Given the description of an element on the screen output the (x, y) to click on. 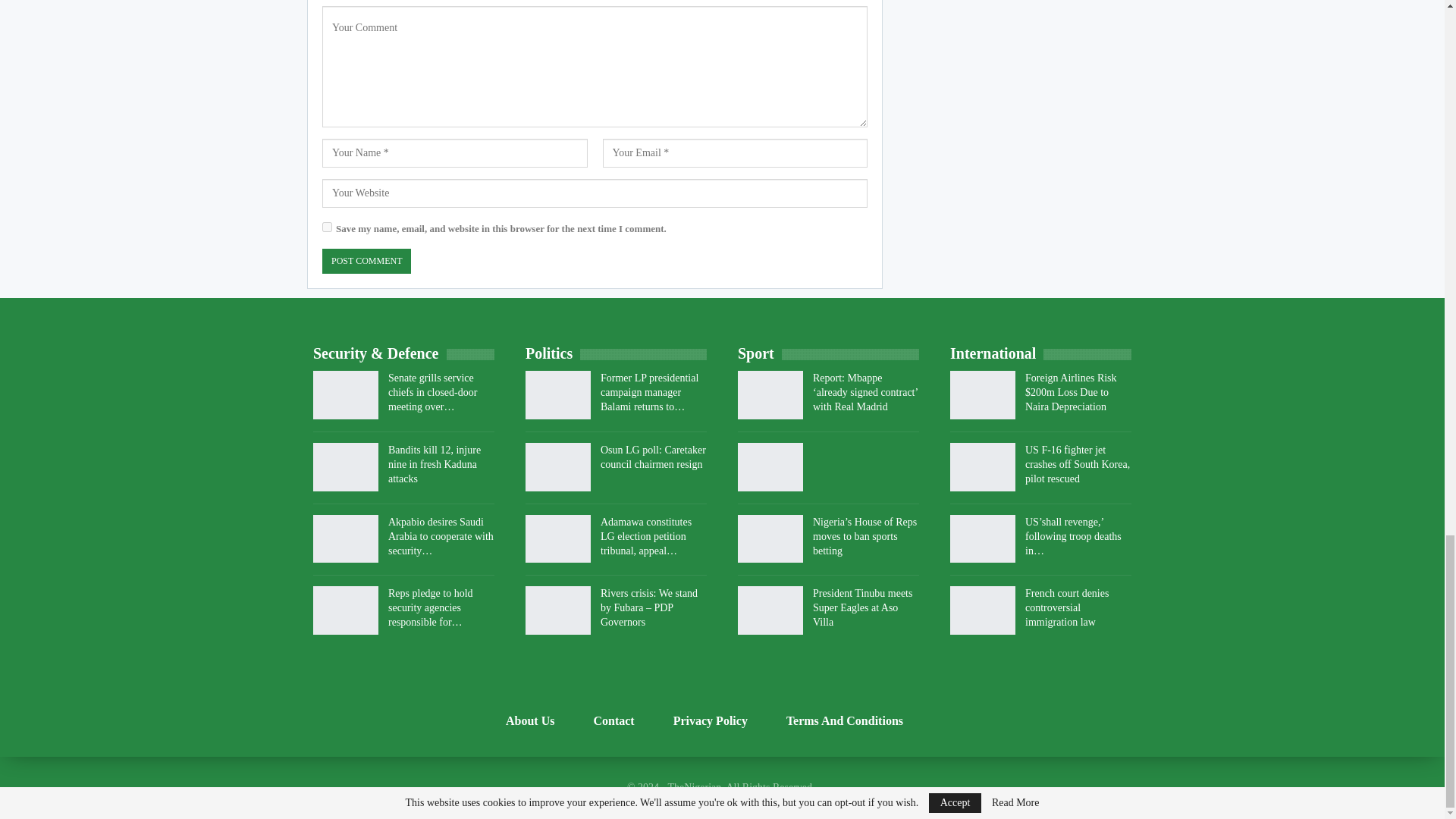
yes (326, 226)
Post Comment (365, 260)
